Given the description of an element on the screen output the (x, y) to click on. 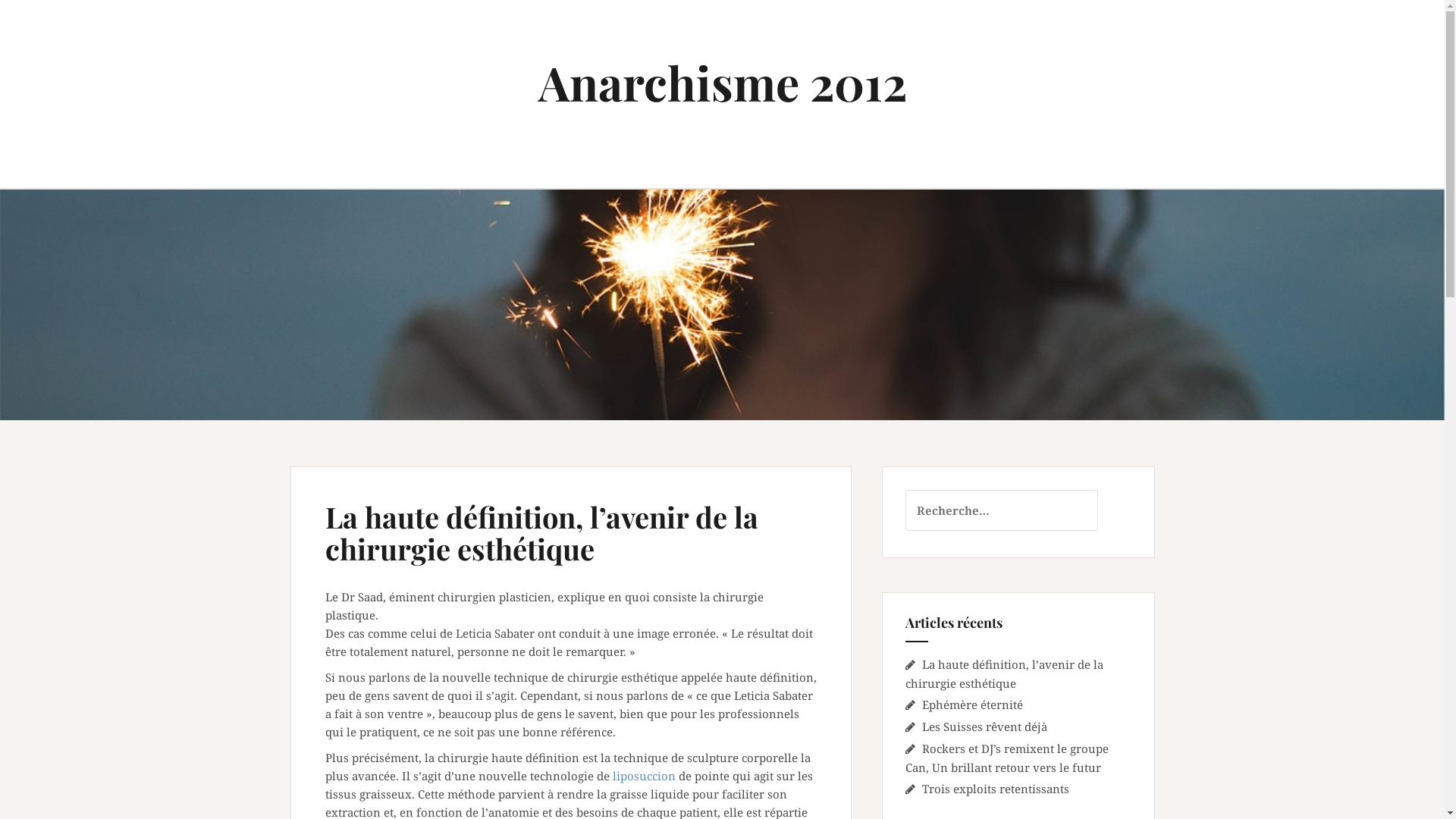
liposuccion Element type: text (643, 775)
Anarchisme 2012 Element type: text (722, 81)
Trois exploits retentissants Element type: text (995, 788)
Aller au contenu Element type: text (0, 0)
Rechercher Element type: text (45, 20)
